Given the description of an element on the screen output the (x, y) to click on. 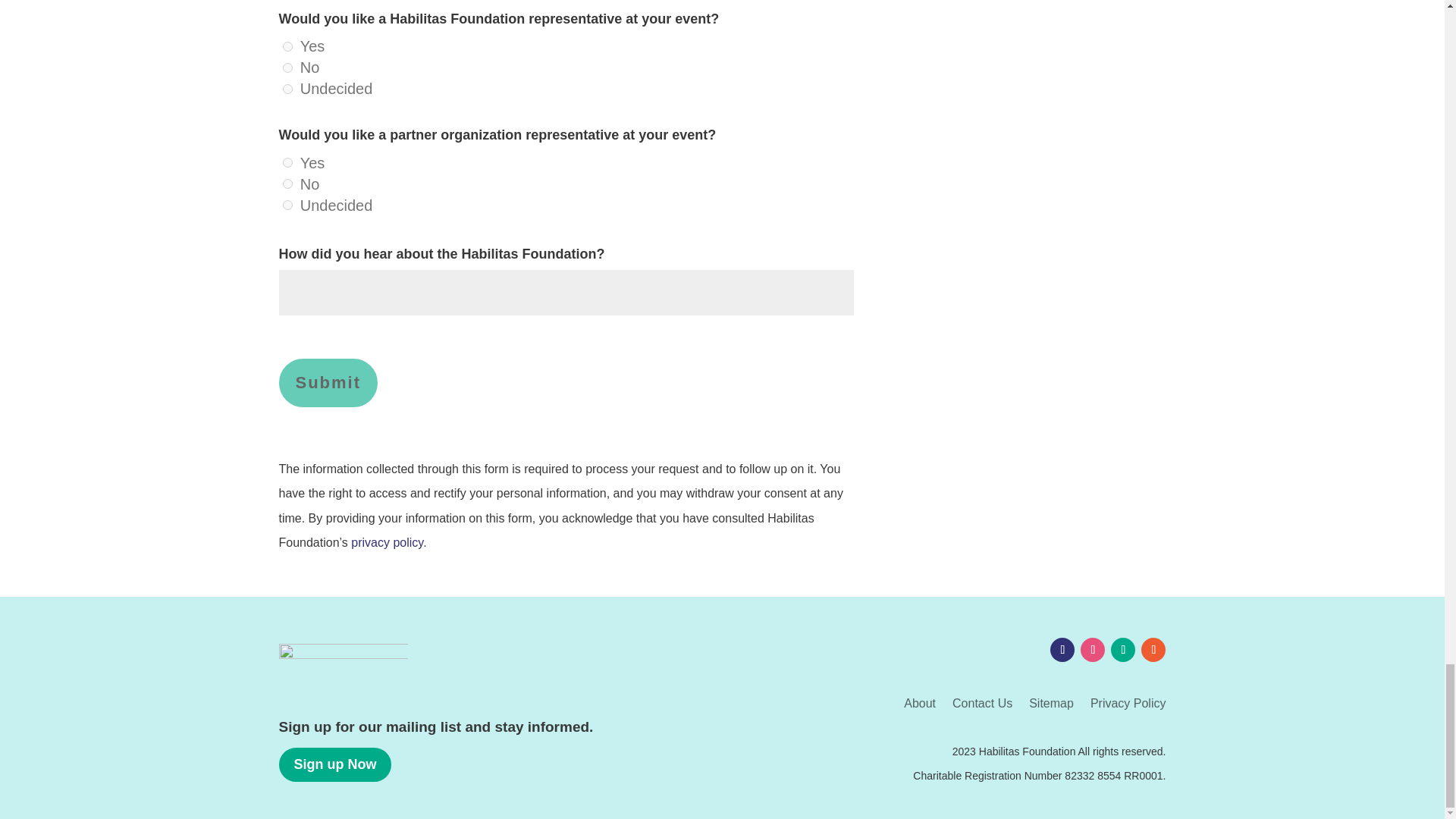
Follow on Instagram (1092, 649)
Follow on Youtube (1153, 649)
Habilitas-Logo-Icon-H-Bil-Dark-RGB (343, 667)
Follow on Facebook (1061, 649)
Follow on LinkedIn (1122, 649)
